Given the description of an element on the screen output the (x, y) to click on. 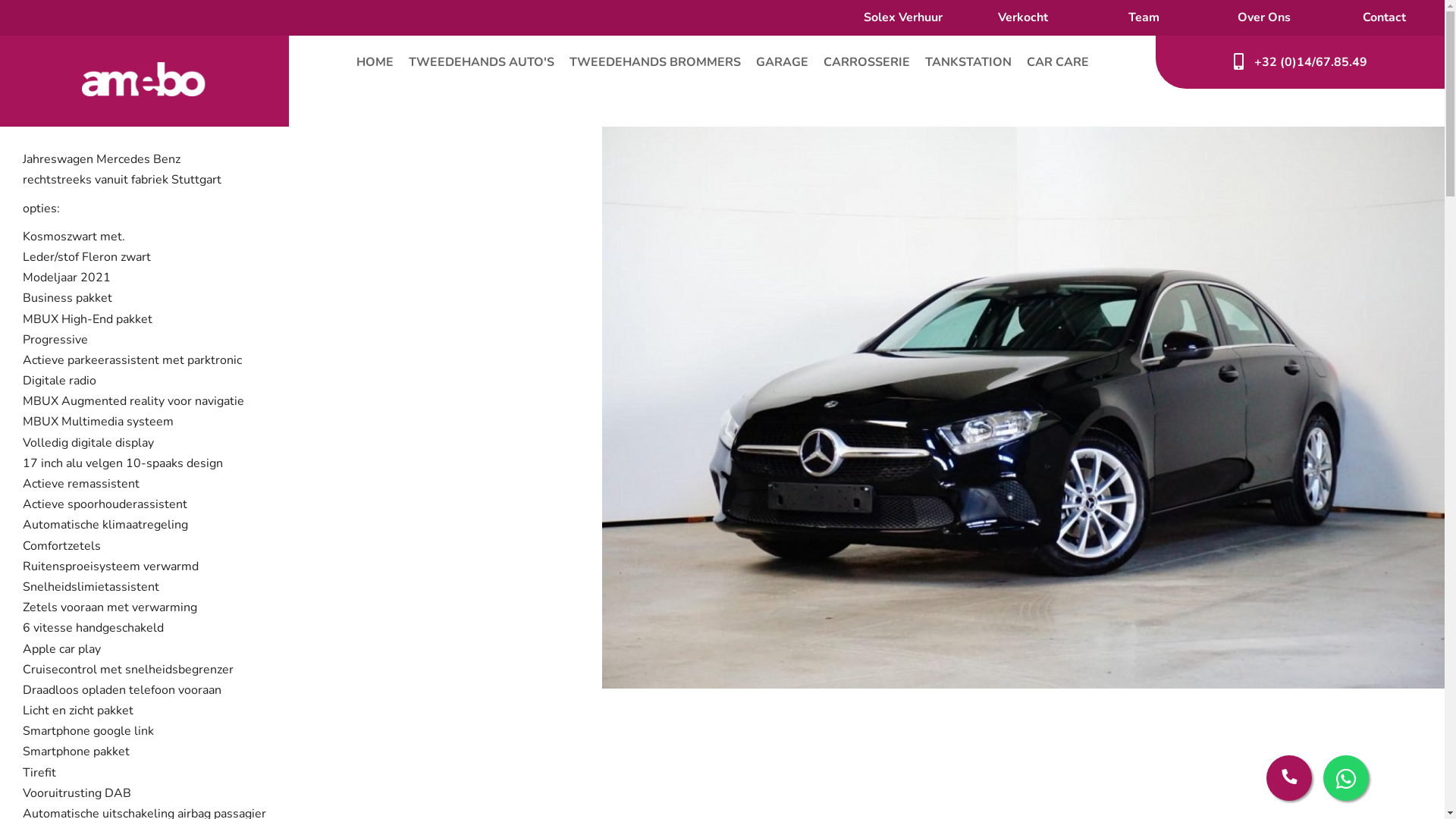
Team Element type: text (1143, 17)
HOME Element type: text (374, 61)
GARAGE Element type: text (781, 61)
+32 (0)14/67.85.49 Element type: text (1299, 61)
Over Ons Element type: text (1263, 17)
Solex Verhuur Element type: text (902, 17)
TWEEDEHANDS AUTO'S Element type: text (480, 61)
CARROSSERIE Element type: text (866, 61)
Contact Element type: text (1383, 17)
TANKSTATION Element type: text (968, 61)
Verkocht Element type: text (1022, 17)
CAR CARE Element type: text (1057, 61)
TWEEDEHANDS BROMMERS Element type: text (654, 61)
